Given the description of an element on the screen output the (x, y) to click on. 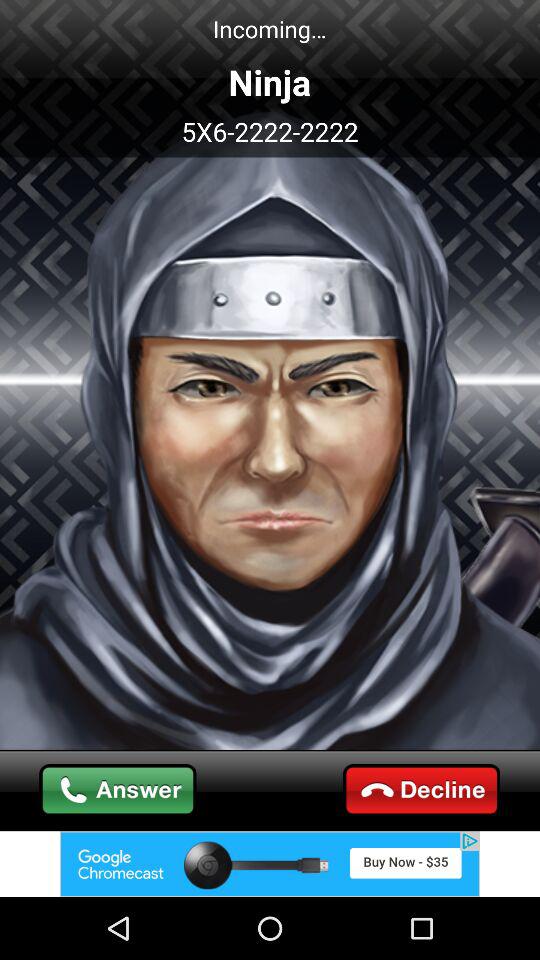
advertising (270, 864)
